Given the description of an element on the screen output the (x, y) to click on. 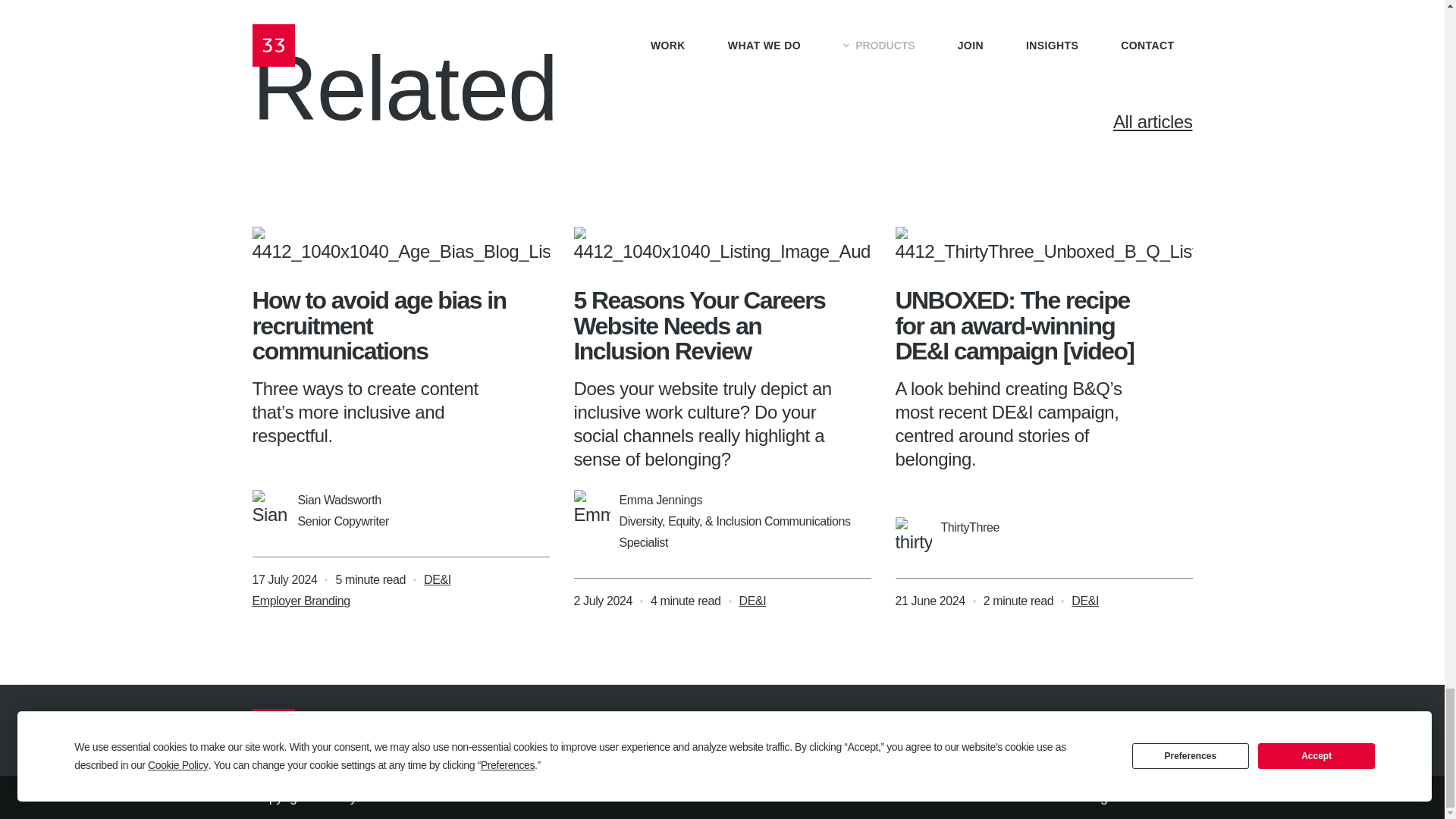
Employer Branding (300, 600)
How to avoid age bias in recruitment communications (378, 325)
5 Reasons Your Careers Website Needs an Inclusion Review (699, 325)
All articles (1085, 121)
